Given the description of an element on the screen output the (x, y) to click on. 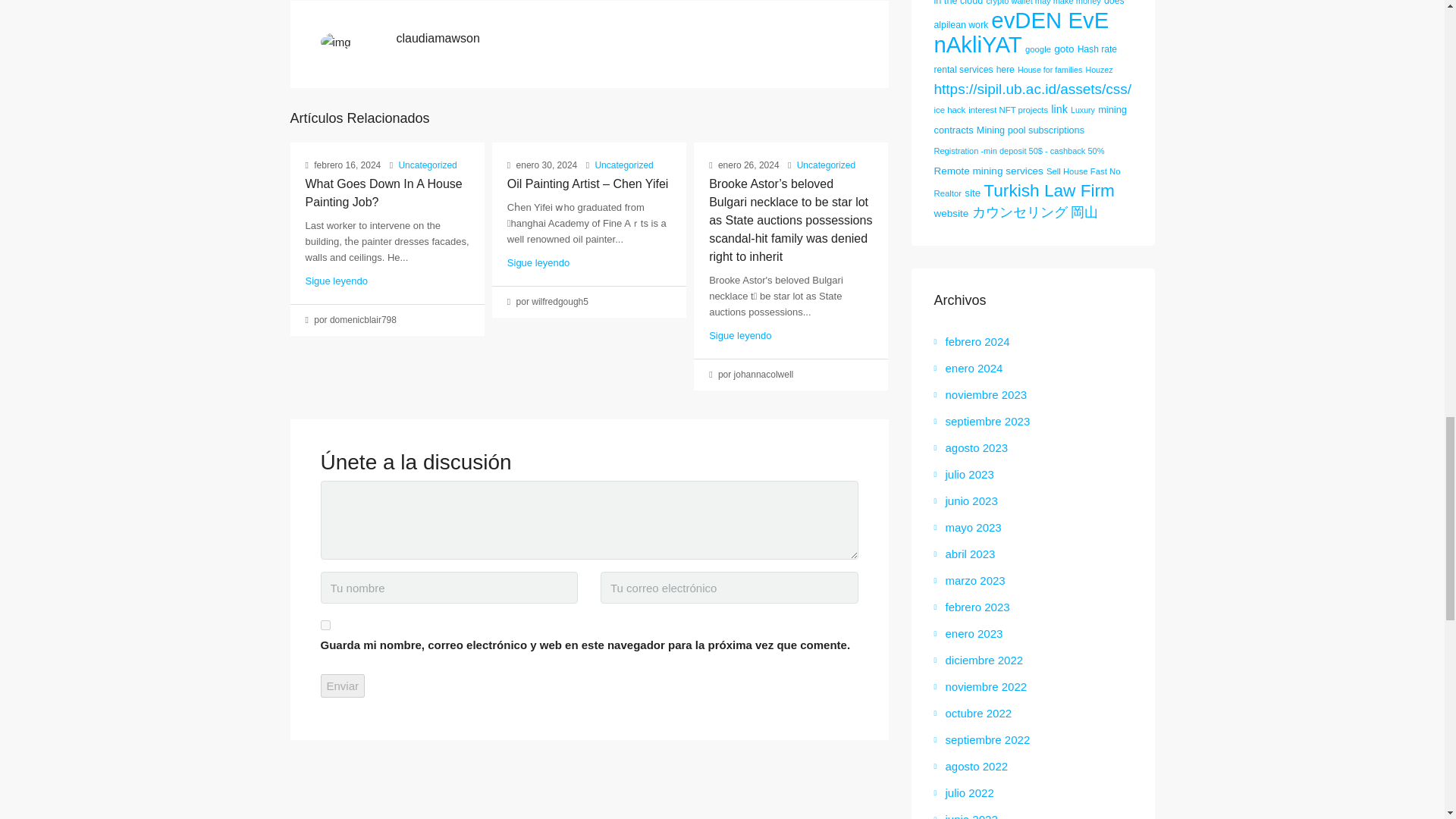
Uncategorized (623, 164)
Sigue leyendo (335, 280)
Enviar (342, 685)
yes (325, 624)
Enviar (342, 685)
Sigue leyendo (537, 262)
Uncategorized (427, 164)
Uncategorized (826, 164)
Sigue leyendo (740, 335)
What Goes Down In A House Painting Job? (382, 192)
